Given the description of an element on the screen output the (x, y) to click on. 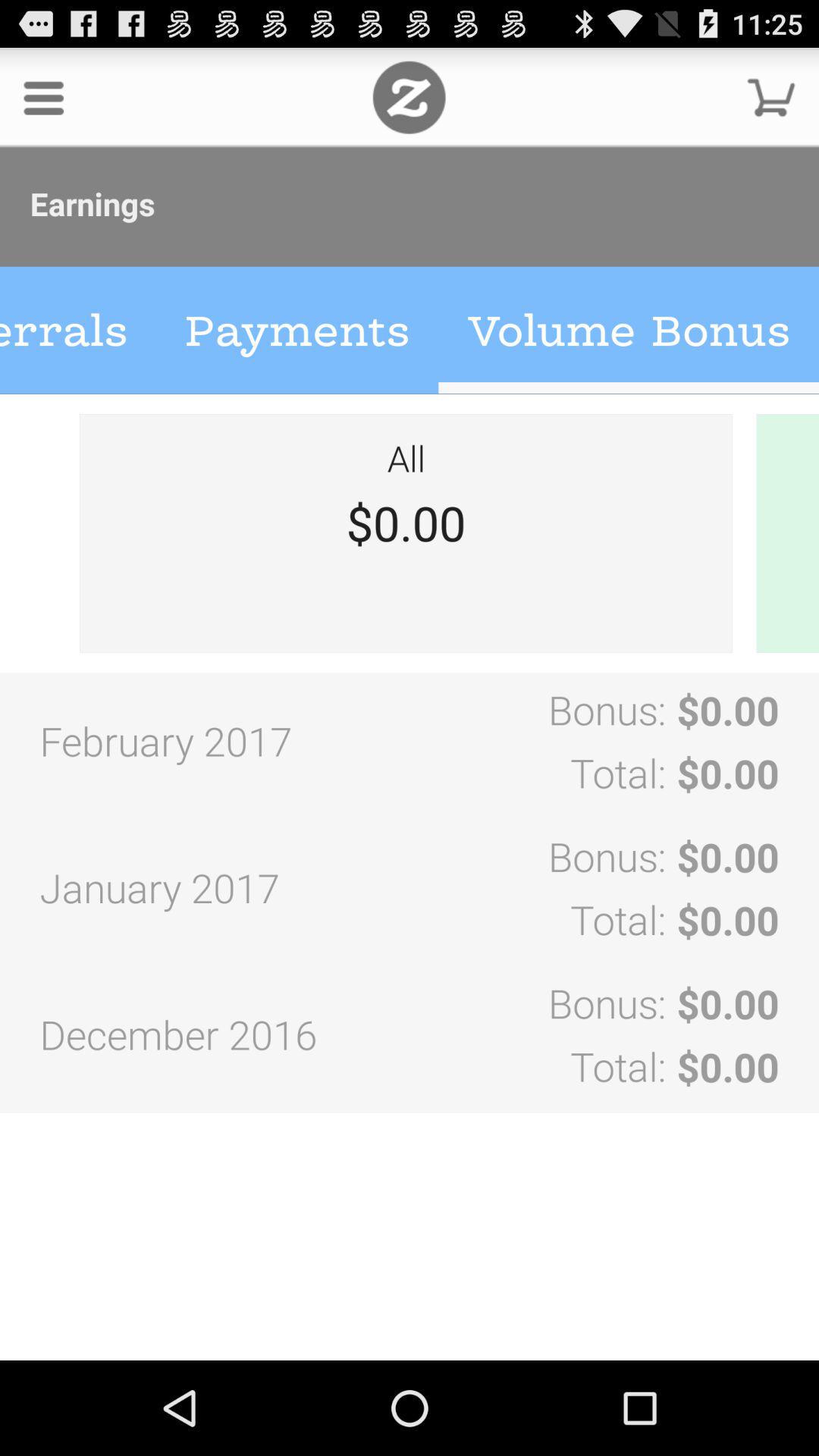
click on payments (297, 330)
click on the symbol next to menu (408, 97)
